Given the description of an element on the screen output the (x, y) to click on. 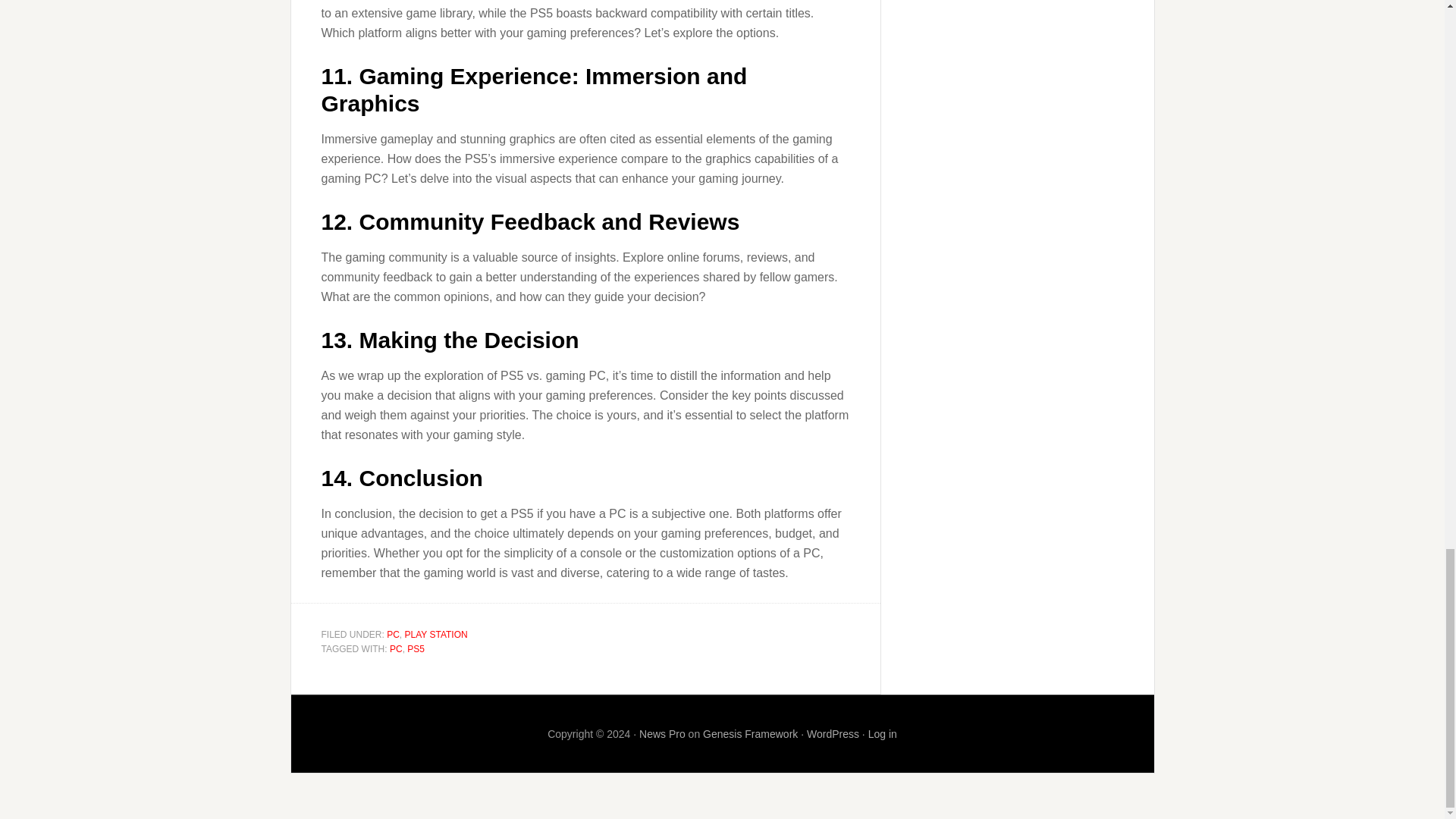
PS5 (416, 648)
PC (392, 634)
PLAY STATION (435, 634)
PC (396, 648)
